Given the description of an element on the screen output the (x, y) to click on. 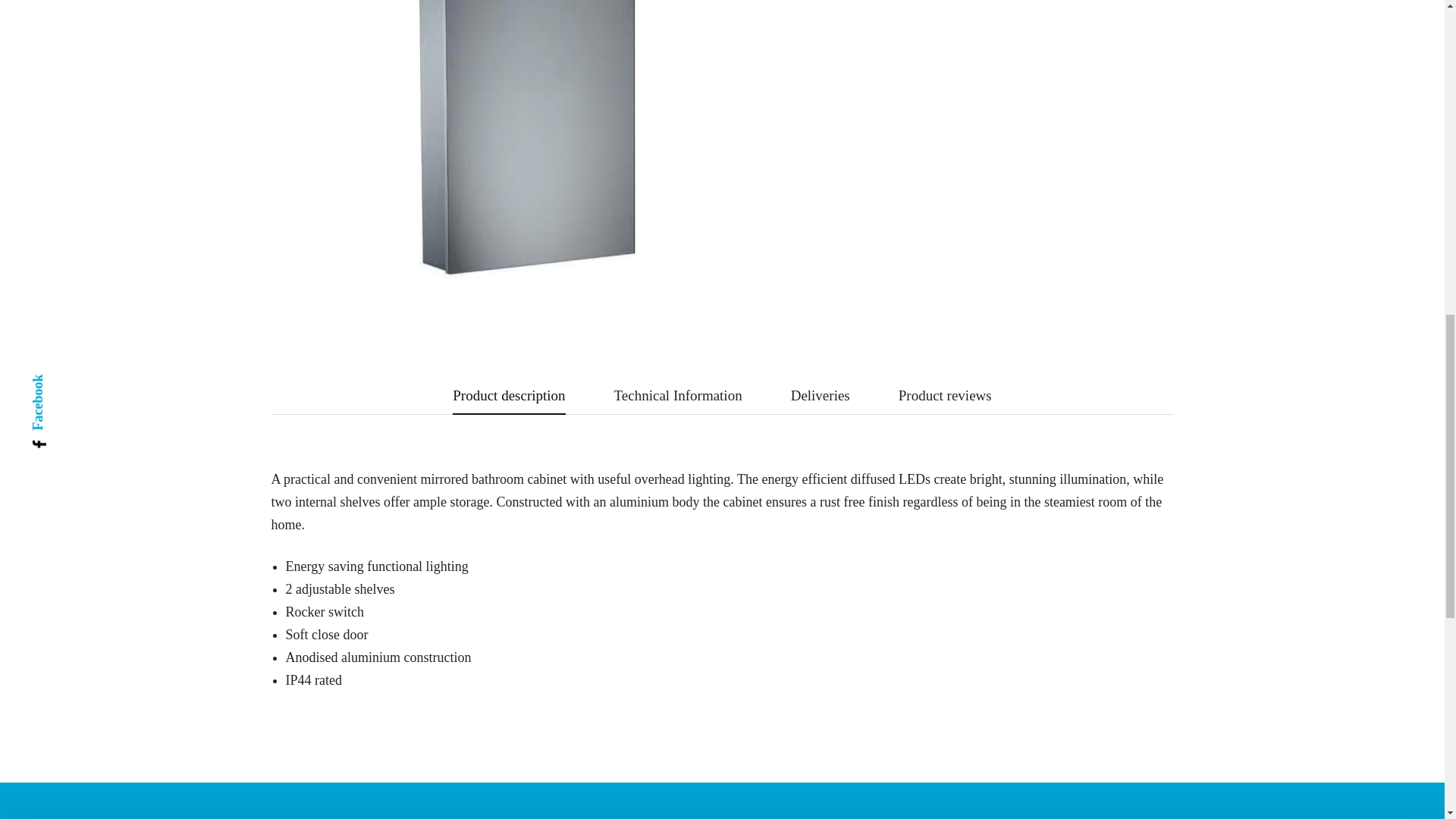
1 (848, 37)
